Given the description of an element on the screen output the (x, y) to click on. 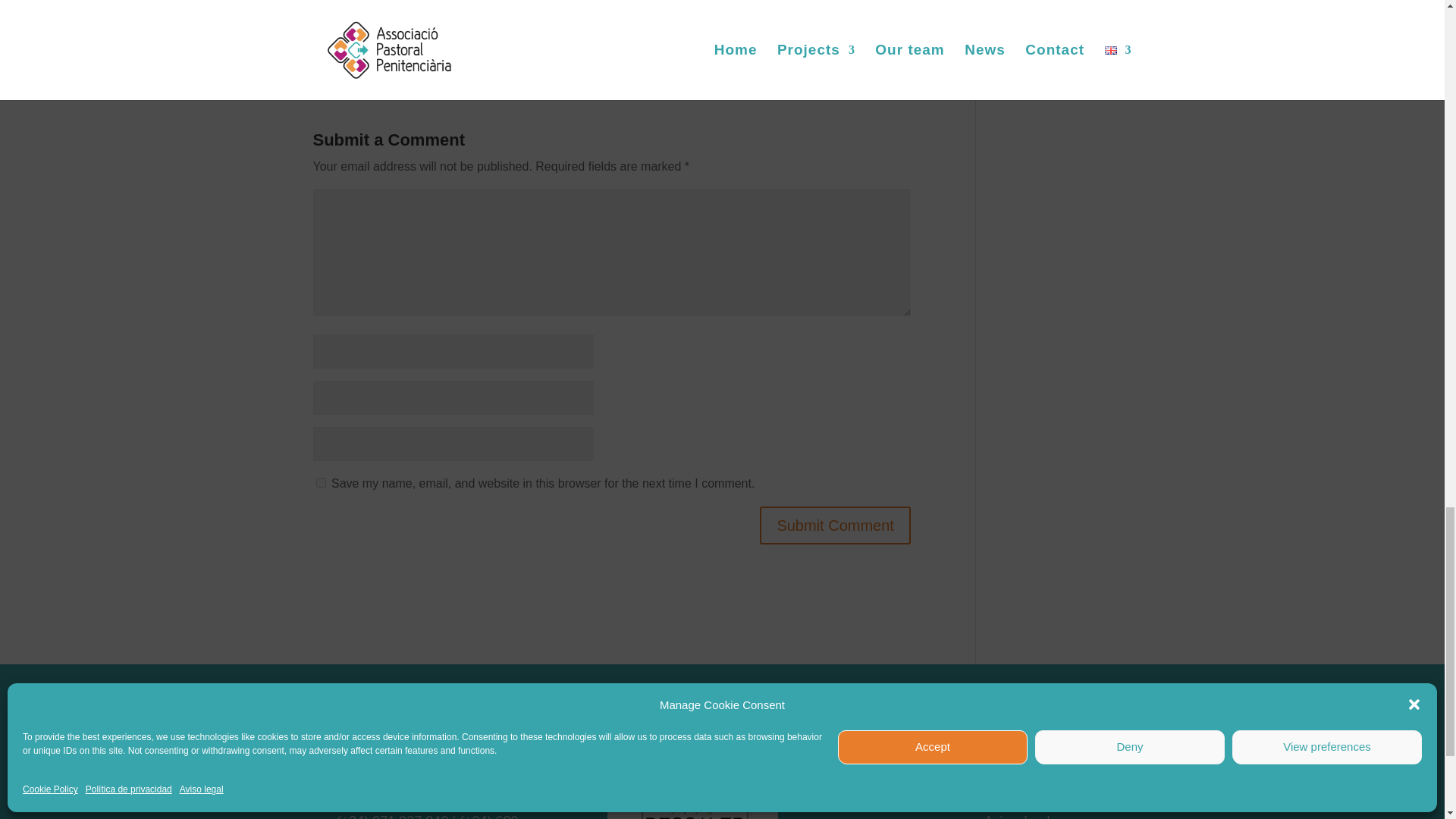
ITSCC 2022 (371, 20)
Submit Comment (835, 525)
Submit Comment (835, 525)
rescaled logo 2 (692, 764)
yes (319, 482)
